Given the description of an element on the screen output the (x, y) to click on. 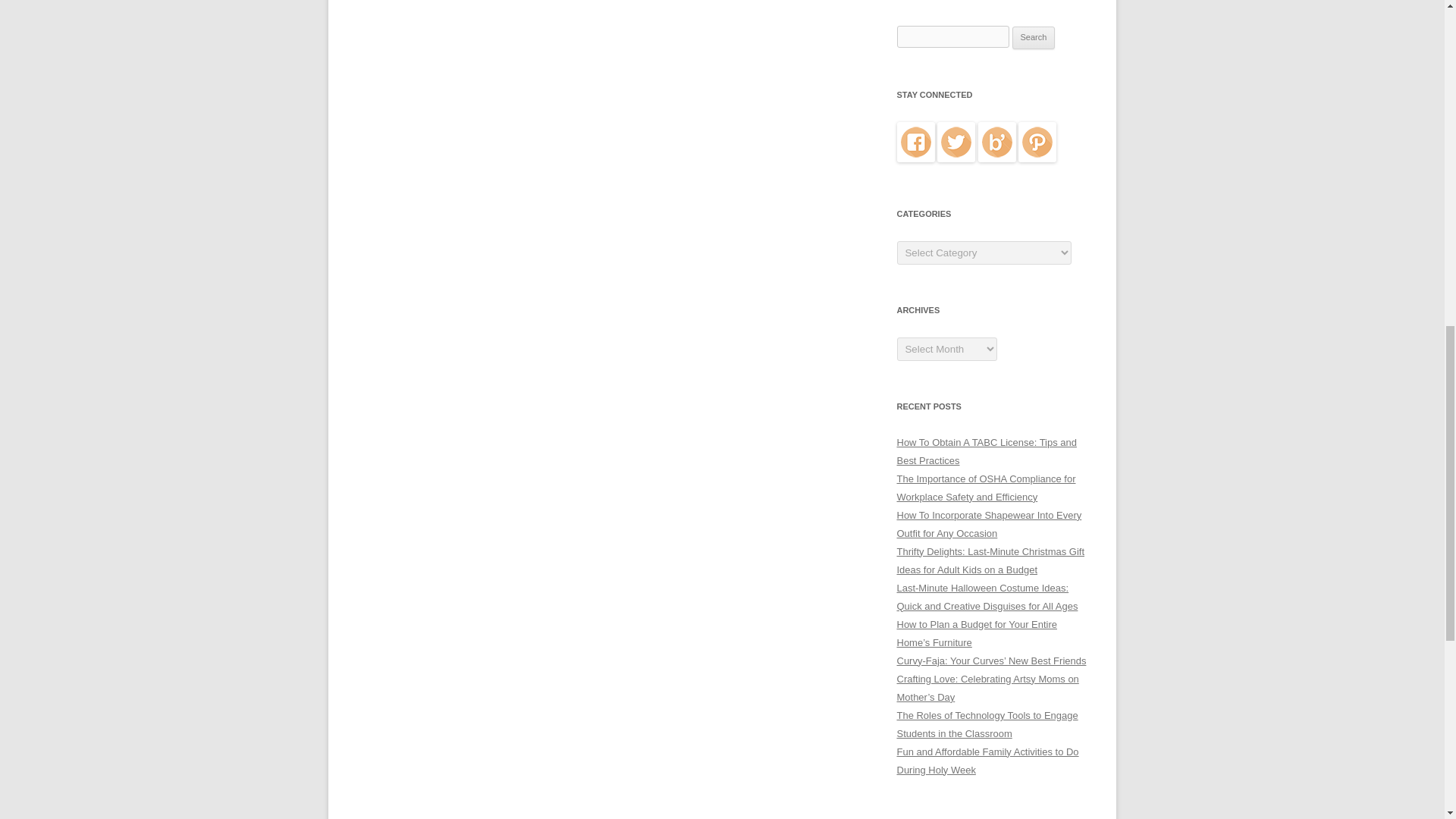
Search (1033, 37)
Fun and Affordable Family Activities to Do During Holy Week (987, 760)
Search (1033, 37)
How To Obtain A TABC License: Tips and Best Practices (985, 451)
